Given the description of an element on the screen output the (x, y) to click on. 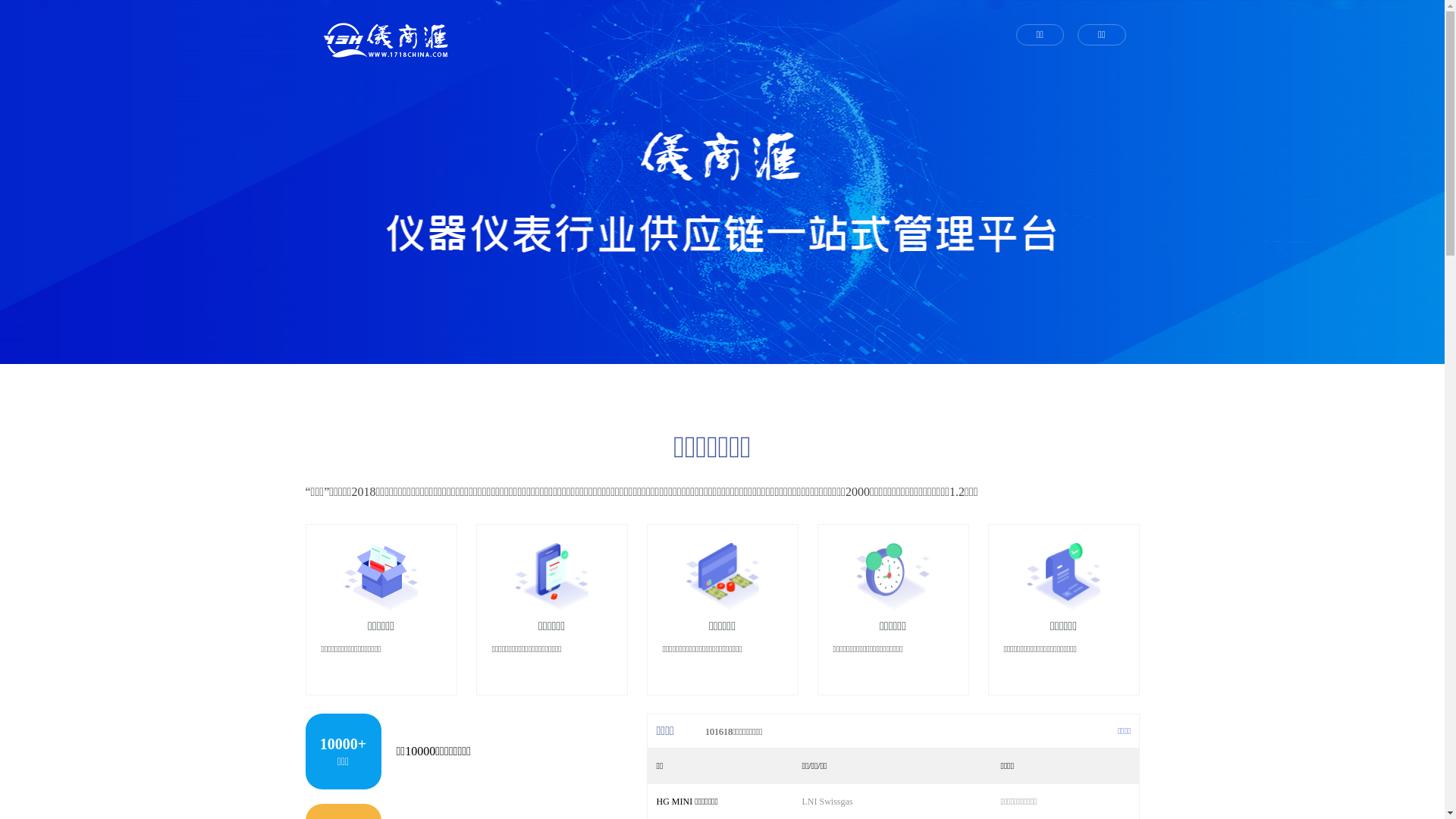
3 Element type: text (740, 347)
2 Element type: text (722, 347)
1 Element type: text (704, 347)
